Given the description of an element on the screen output the (x, y) to click on. 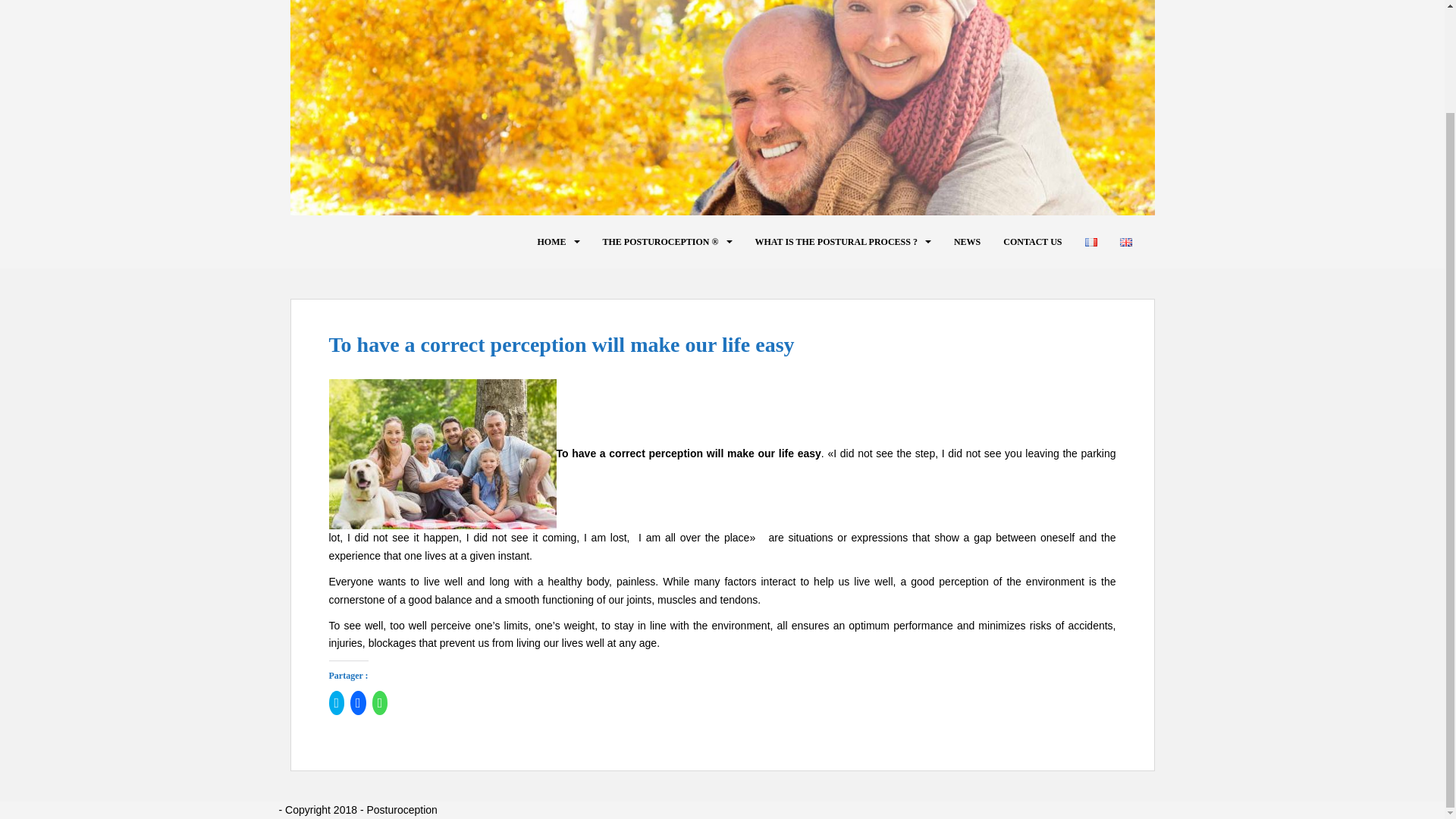
CONTACT US (1032, 241)
WHAT IS THE POSTURAL PROCESS ? (836, 241)
HOME (551, 241)
